Given the description of an element on the screen output the (x, y) to click on. 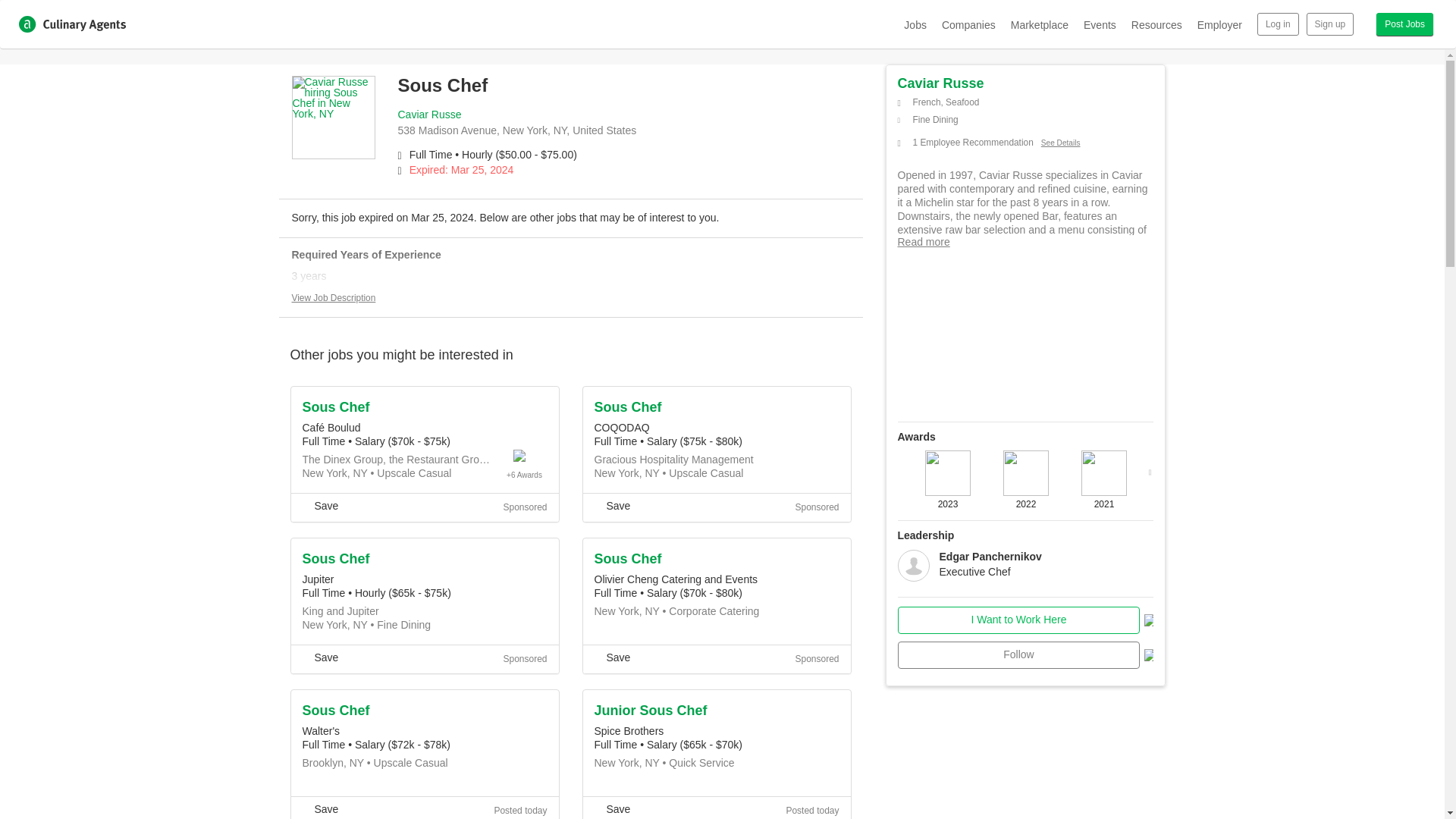
Save (319, 808)
Marketplace (1039, 24)
Save (612, 808)
Resources (1156, 24)
Save (612, 657)
Sign up (1330, 24)
Log in (1277, 24)
Caviar Russe (429, 114)
Save (612, 505)
Companies (968, 24)
